Given the description of an element on the screen output the (x, y) to click on. 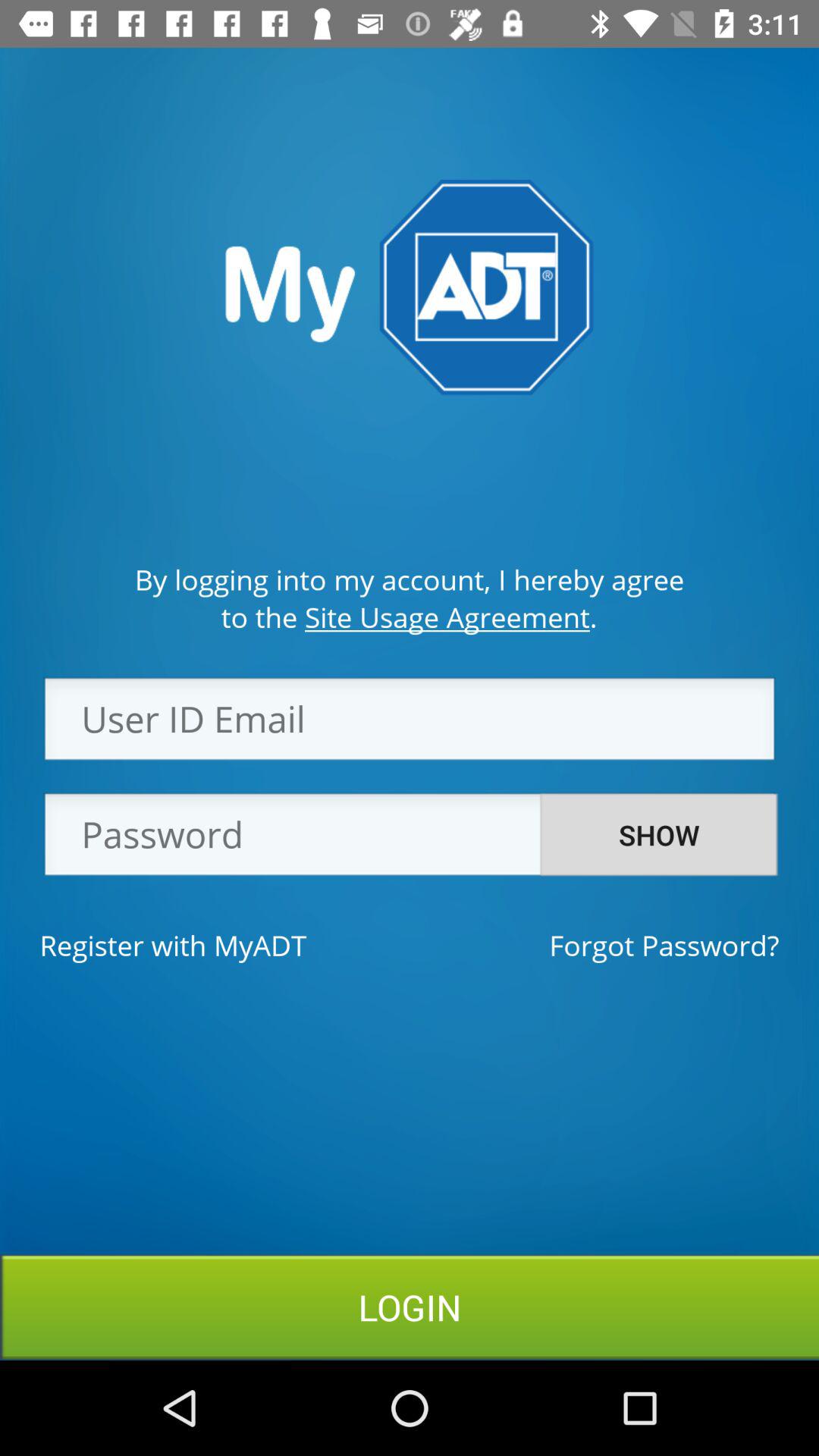
jump until the register with myadt (172, 945)
